Given the description of an element on the screen output the (x, y) to click on. 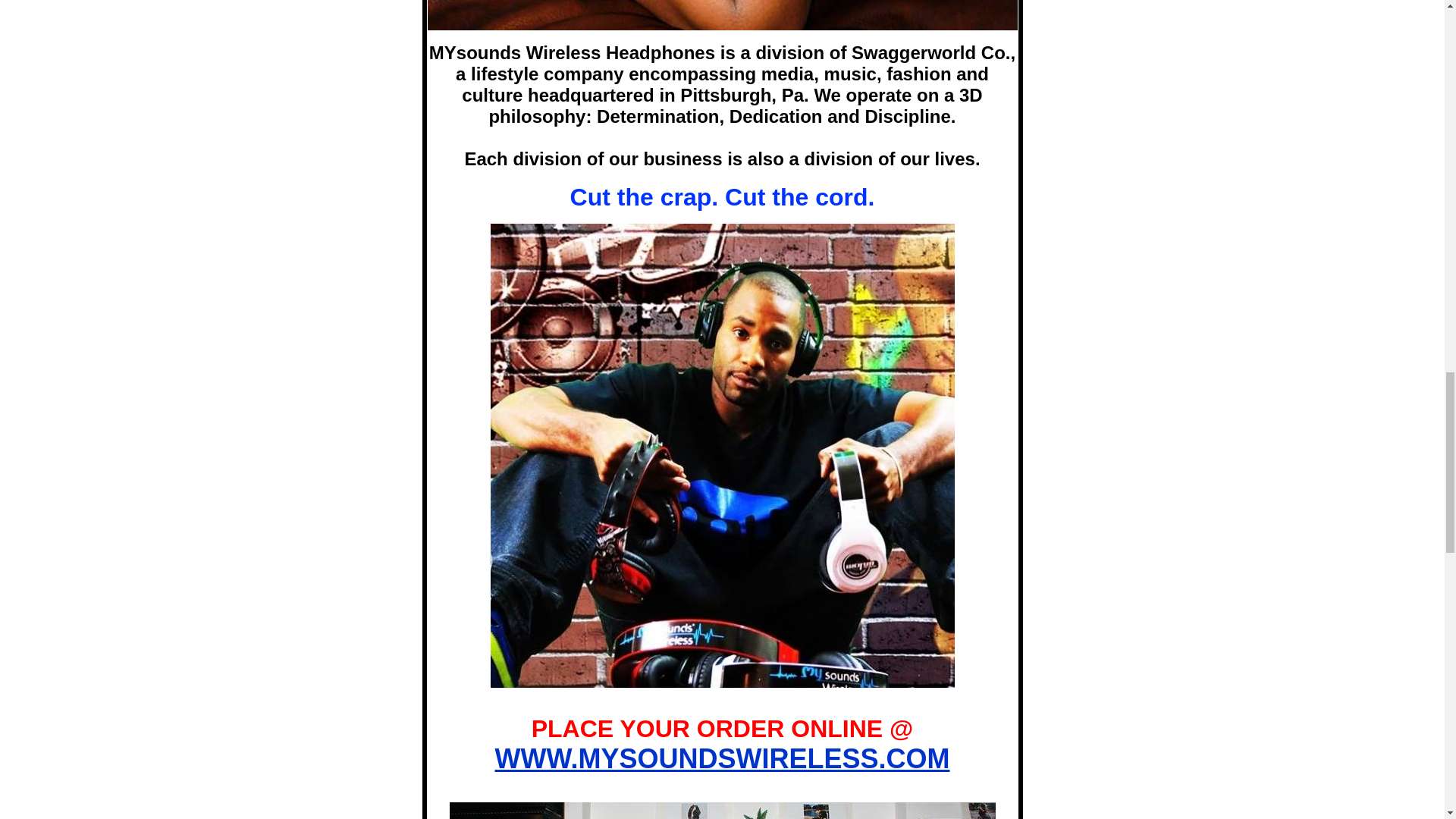
WWW.MYSOUNDSWIRELESS.COM (722, 757)
